Given the description of an element on the screen output the (x, y) to click on. 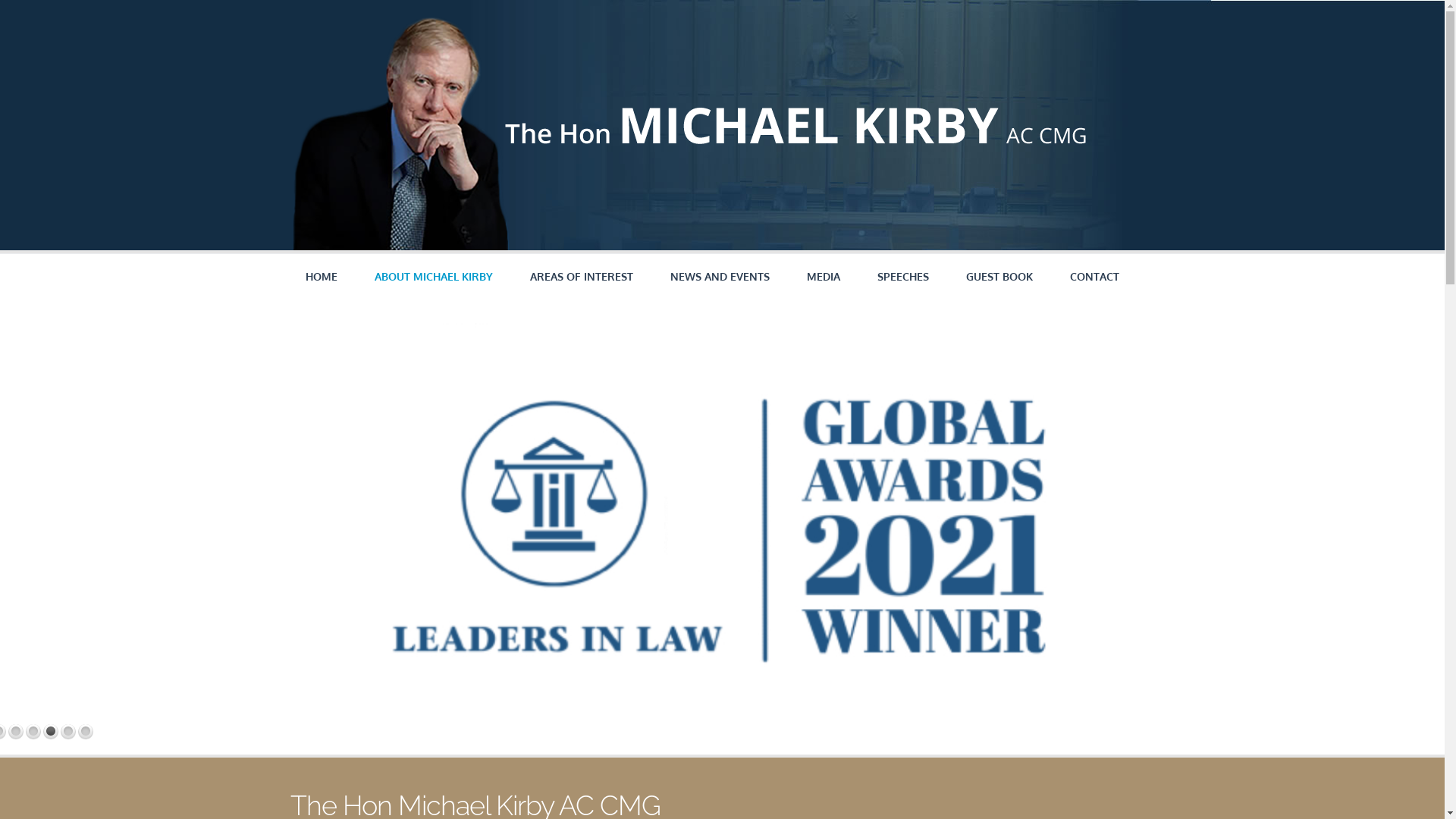
NEWS AND EVENTS Element type: text (719, 276)
GUEST BOOK Element type: text (999, 276)
ABOUT MICHAEL KIRBY Element type: text (433, 276)
AREAS OF INTEREST Element type: text (580, 276)
CONTACT Element type: text (1093, 276)
Skip to main content Element type: text (59, 0)
SPEECHES Element type: text (902, 276)
HOME Element type: text (320, 276)
MEDIA Element type: text (823, 276)
